Given the description of an element on the screen output the (x, y) to click on. 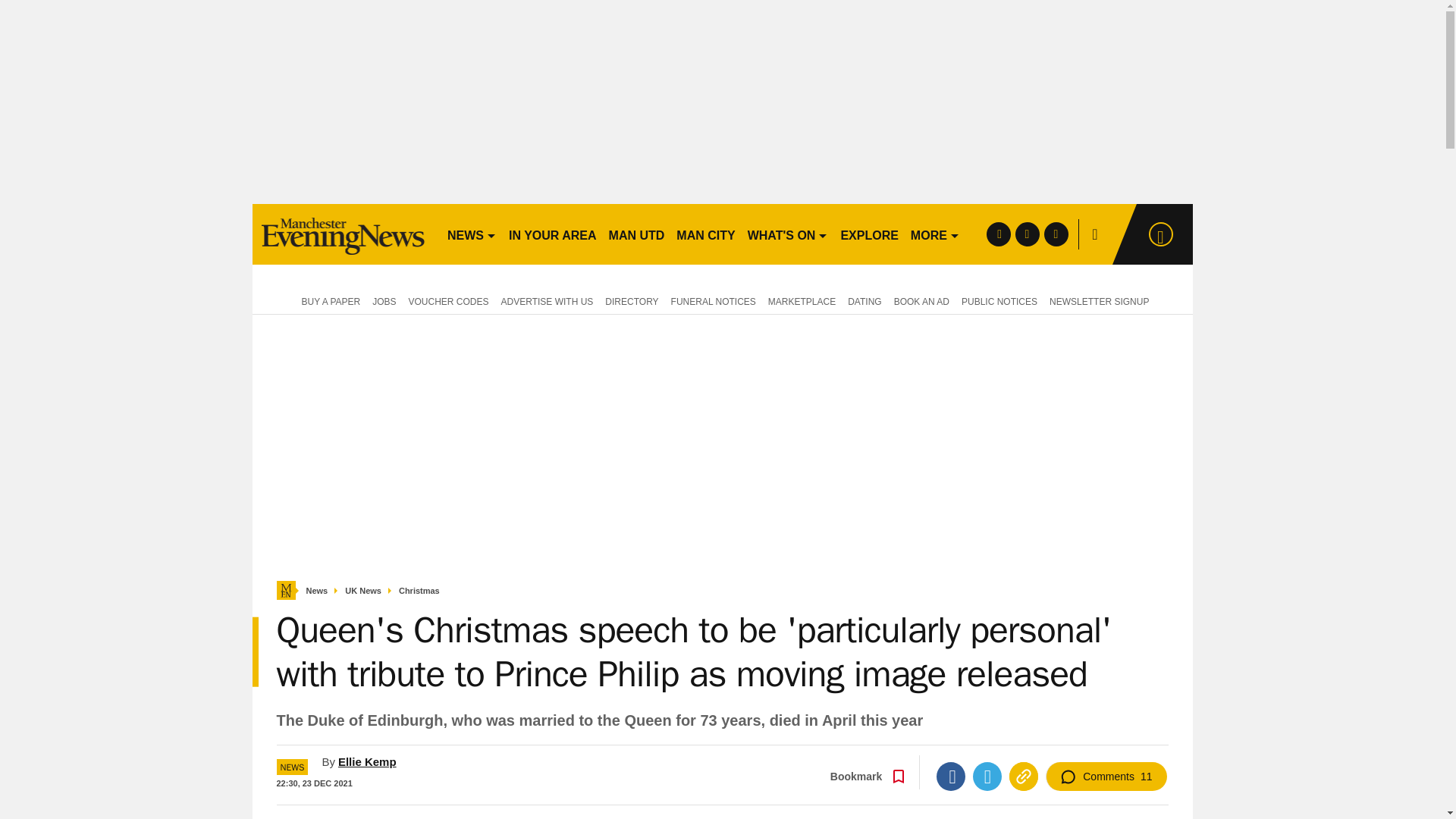
Facebook (950, 776)
instagram (1055, 233)
MAN UTD (636, 233)
men (342, 233)
facebook (997, 233)
MAN CITY (705, 233)
twitter (1026, 233)
Comments (1105, 776)
IN YOUR AREA (552, 233)
WHAT'S ON (787, 233)
